Given the description of an element on the screen output the (x, y) to click on. 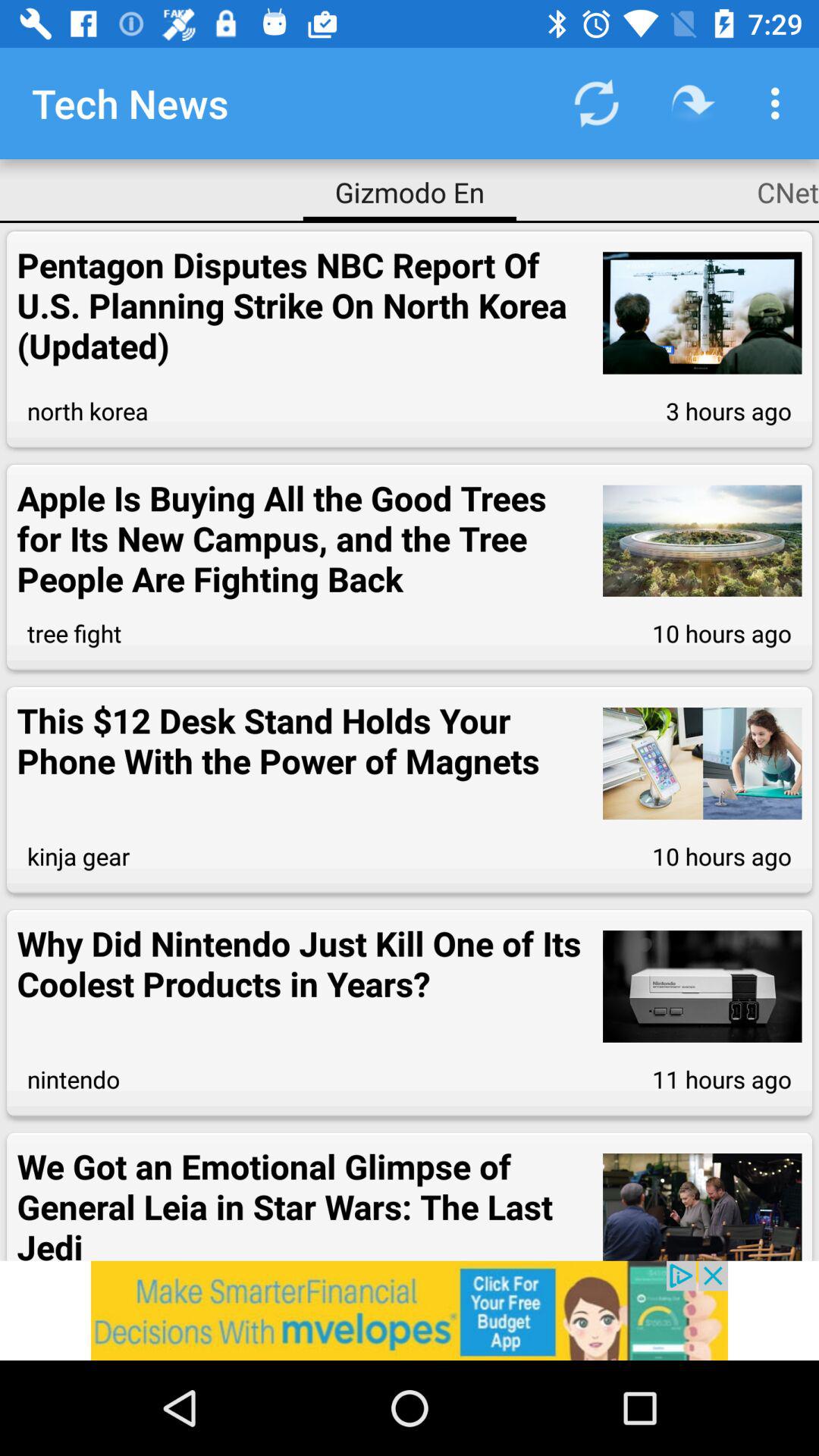
advertisement free budget app (409, 1310)
